Given the description of an element on the screen output the (x, y) to click on. 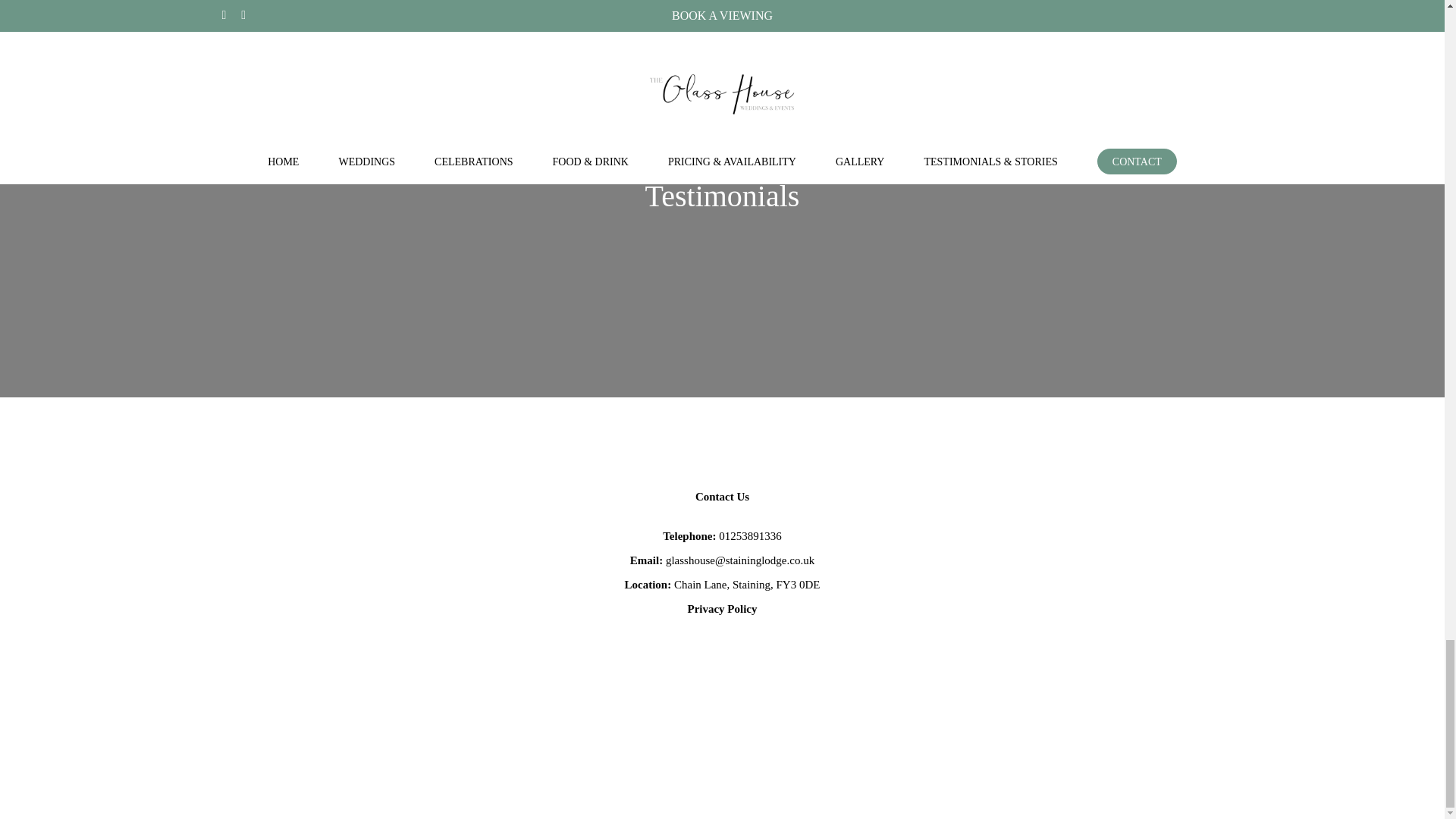
Privacy Policy (722, 608)
01253891336 (750, 535)
